Given the description of an element on the screen output the (x, y) to click on. 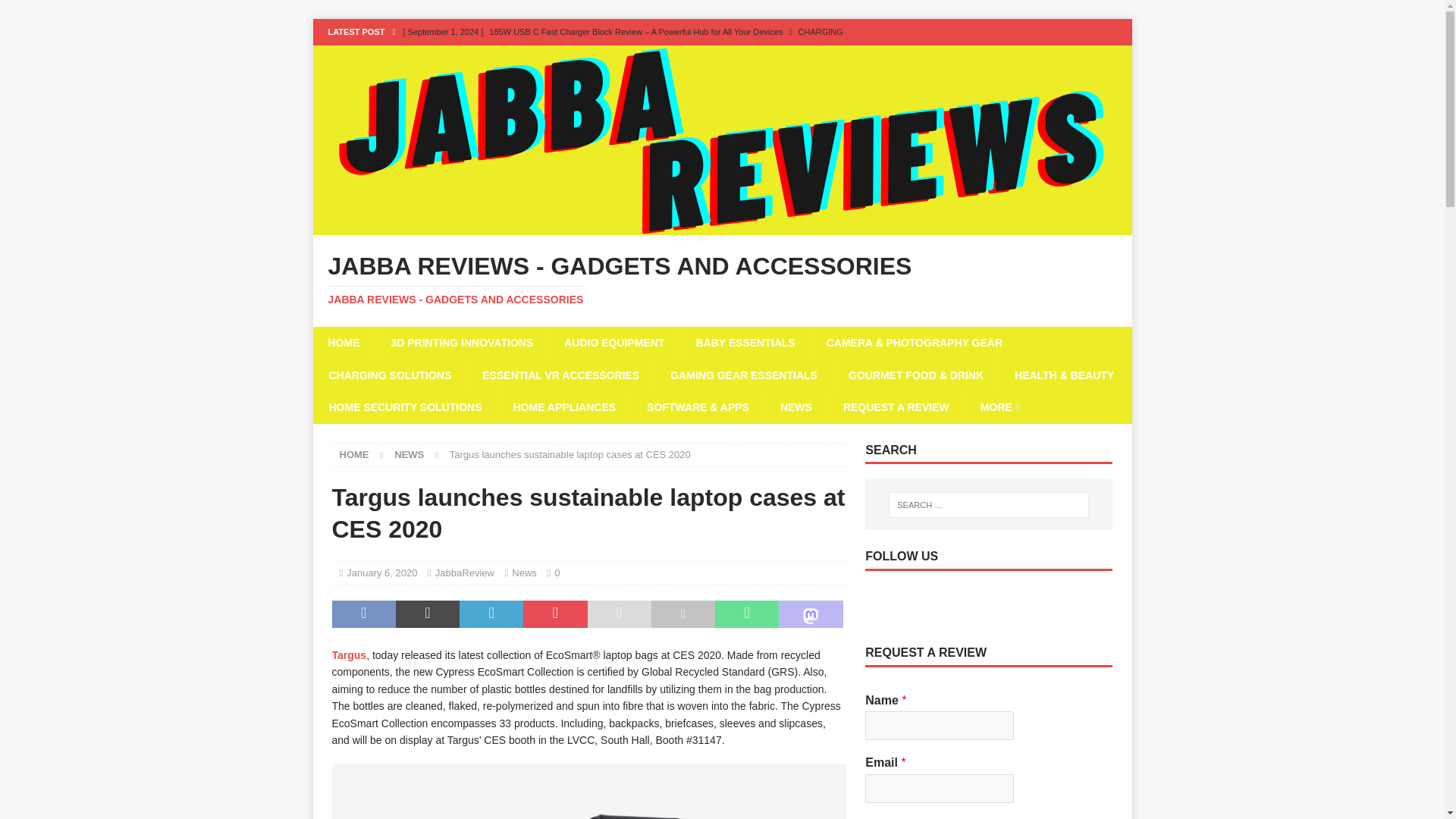
Share on Facebook (363, 614)
MORE (999, 407)
Pin This Post (554, 614)
NEWS (408, 454)
HOME APPLIANCES (563, 407)
Tweet This Post (428, 614)
Jabba Reviews - Gadgets and Accessories (721, 279)
HOME SECURITY SOLUTIONS (404, 407)
Jabba Reviews - Gadgets and Accessories (722, 226)
NEWS (795, 407)
